Given the description of an element on the screen output the (x, y) to click on. 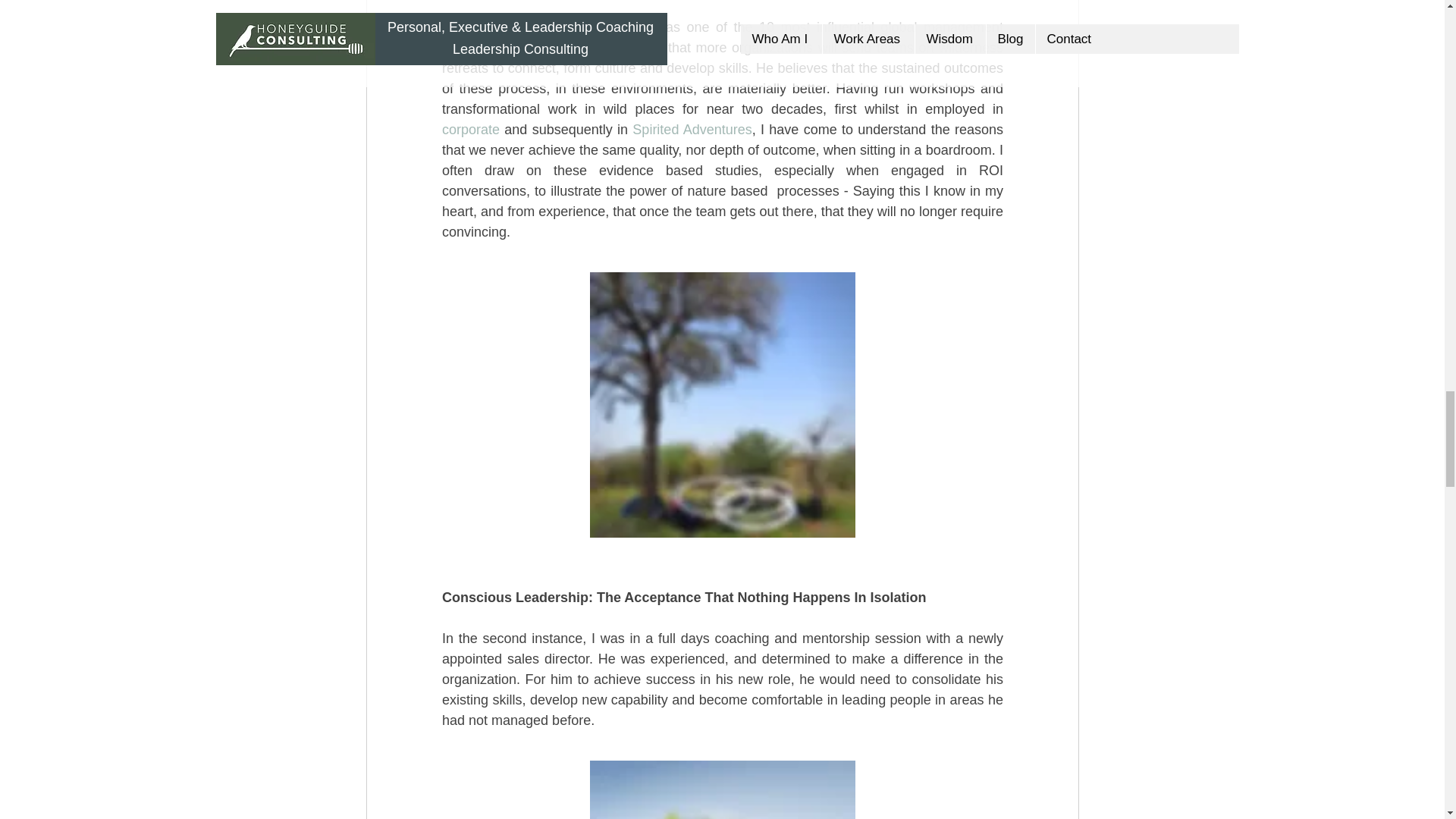
corporate (470, 129)
Professor Adam Grant (510, 27)
Spirited Adventures (691, 129)
